Given the description of an element on the screen output the (x, y) to click on. 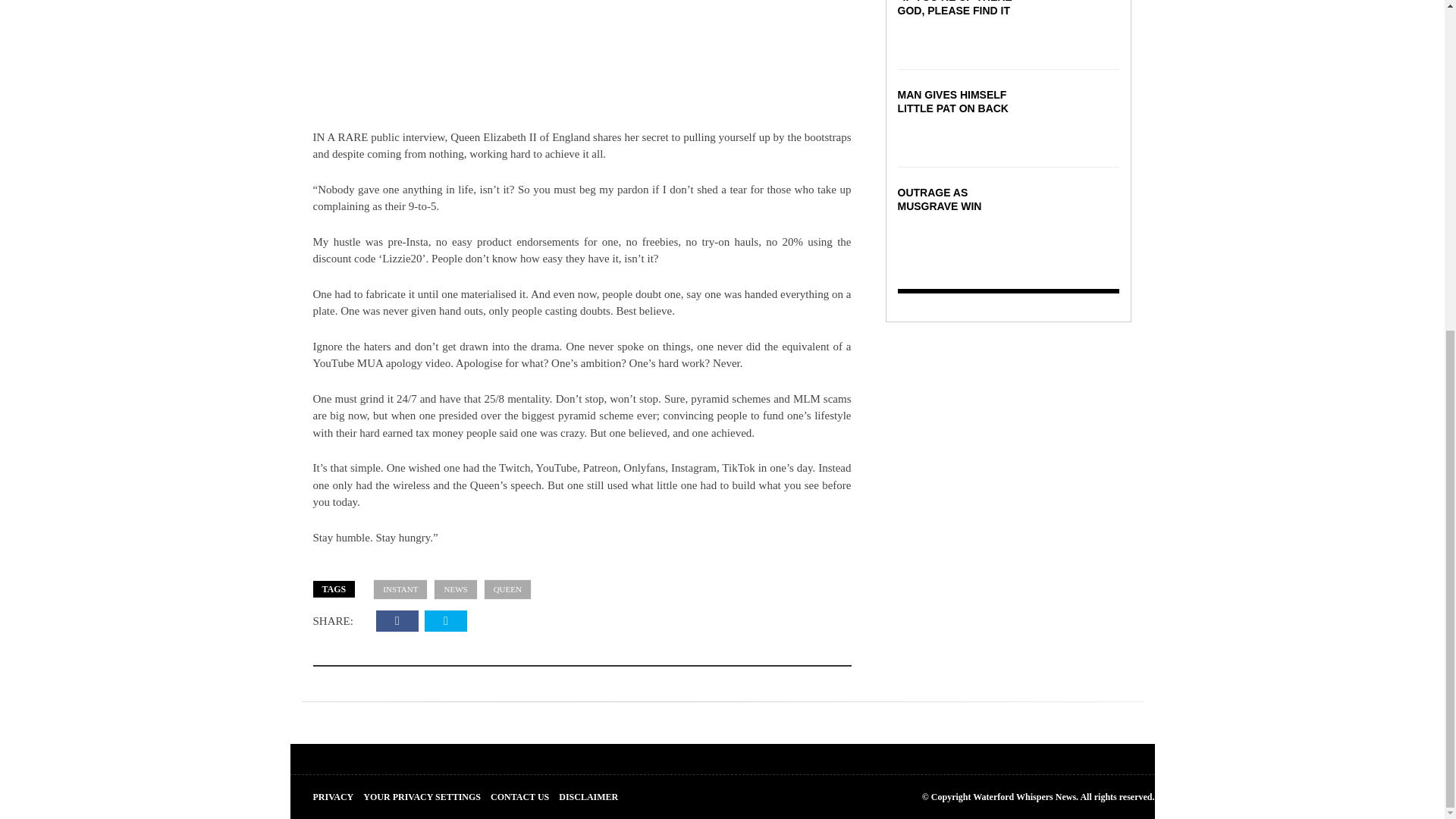
View all posts tagged instant (400, 589)
View all posts tagged news (455, 589)
View all posts tagged queen (507, 589)
